Given the description of an element on the screen output the (x, y) to click on. 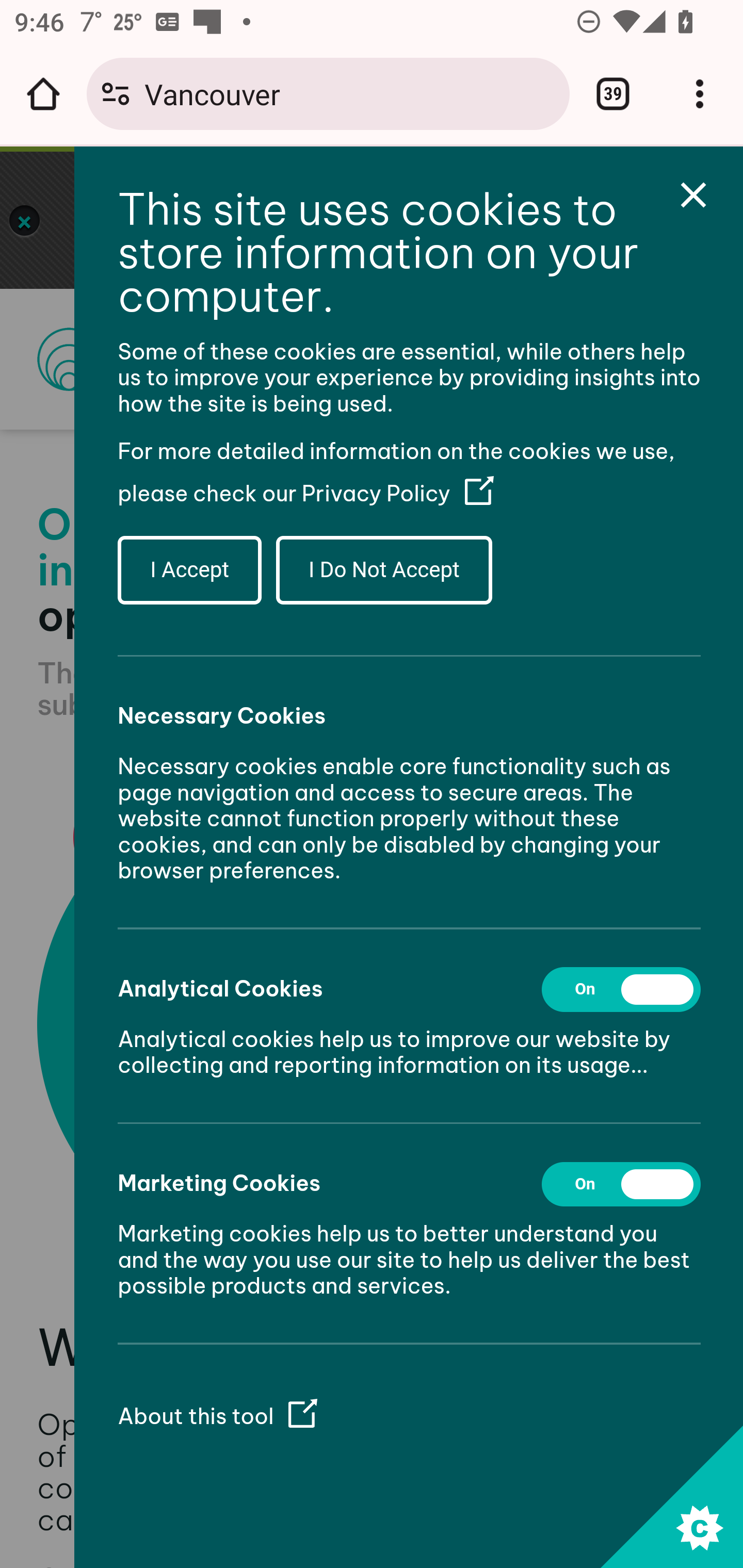
Open the home page (43, 93)
Connection is secure (115, 93)
Switch or close tabs (612, 93)
Customize and control Google Chrome (699, 93)
Vancouver (349, 92)
Close Cookie Control (693, 195)
I Accept (190, 569)
I Do Not Accept (383, 569)
Analytical Cookies (621, 988)
Marketing Cookies (621, 1183)
Set cookie preferences (671, 1495)
